Given the description of an element on the screen output the (x, y) to click on. 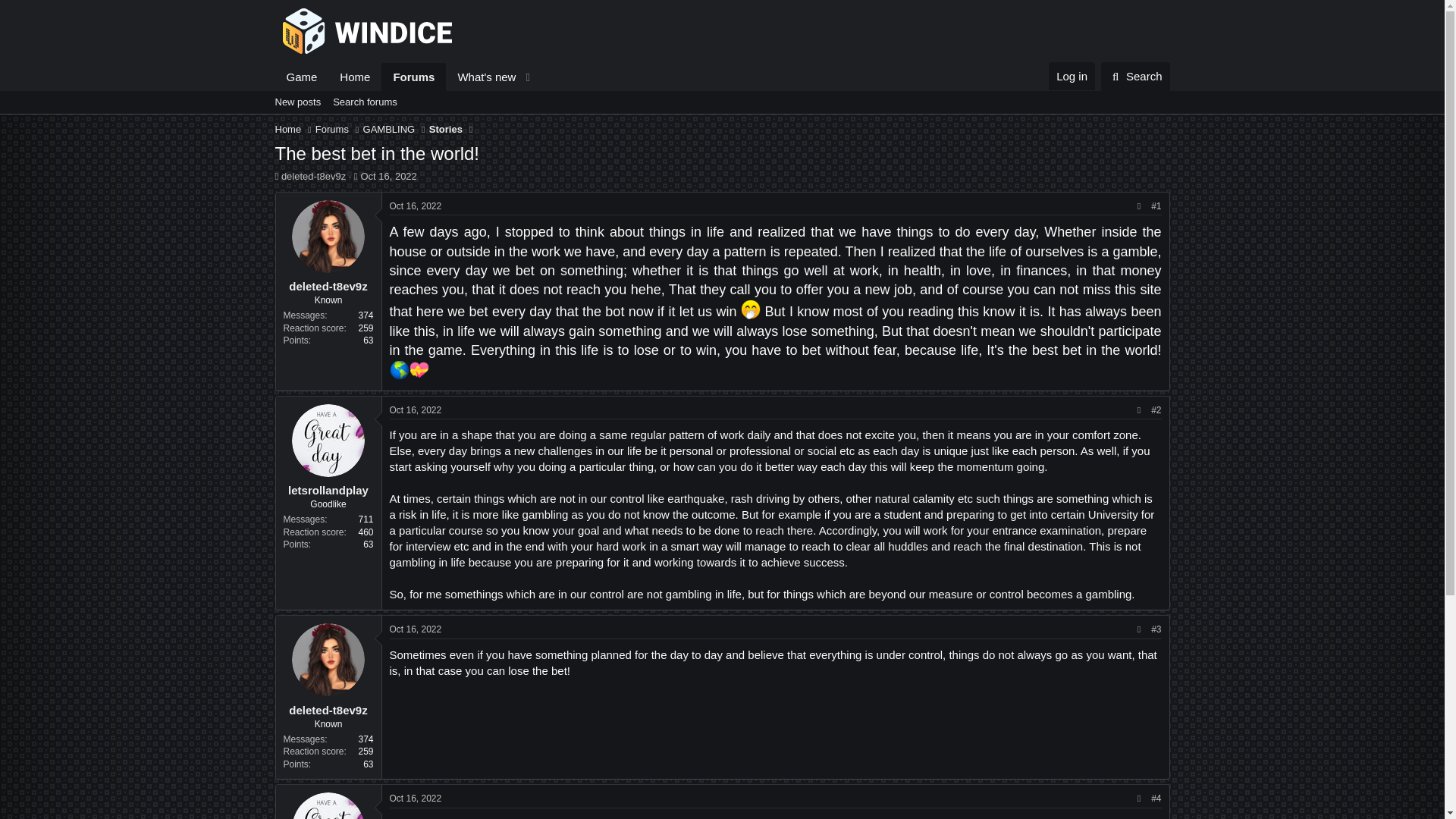
Oct 16, 2022 at 7:19 AM (416, 409)
Search (1135, 76)
Forums (332, 129)
Oct 16, 2022 at 1:40 AM (387, 175)
deleted-t8ev9z (327, 709)
Log in (1071, 76)
Oct 16, 2022 at 1:40 AM (416, 205)
What's new (480, 76)
Stories (446, 129)
Home (288, 129)
Oct 16, 2022 (416, 205)
Search (406, 76)
Game (1135, 76)
